Given the description of an element on the screen output the (x, y) to click on. 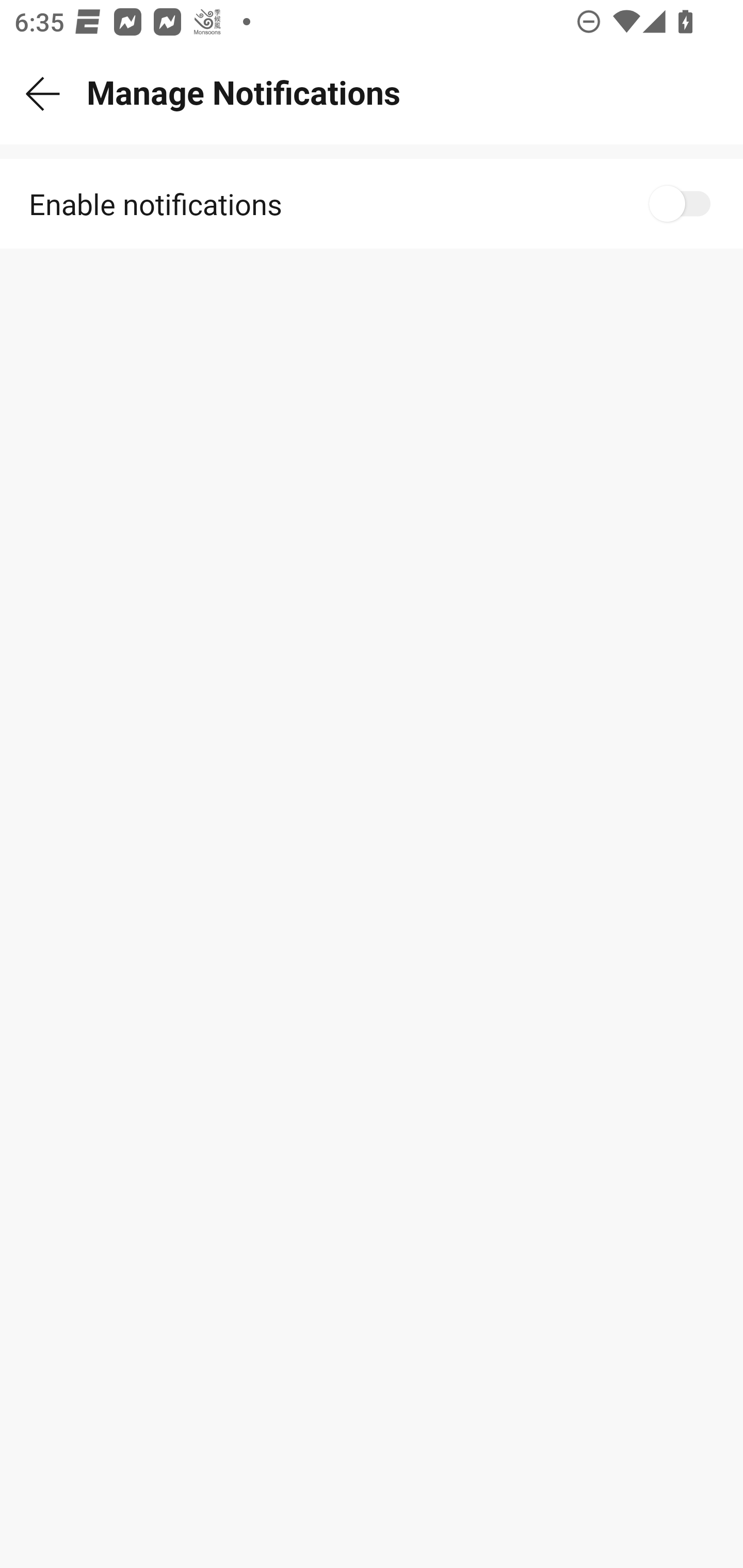
Back (43, 93)
Enable notifications (371, 203)
